Given the description of an element on the screen output the (x, y) to click on. 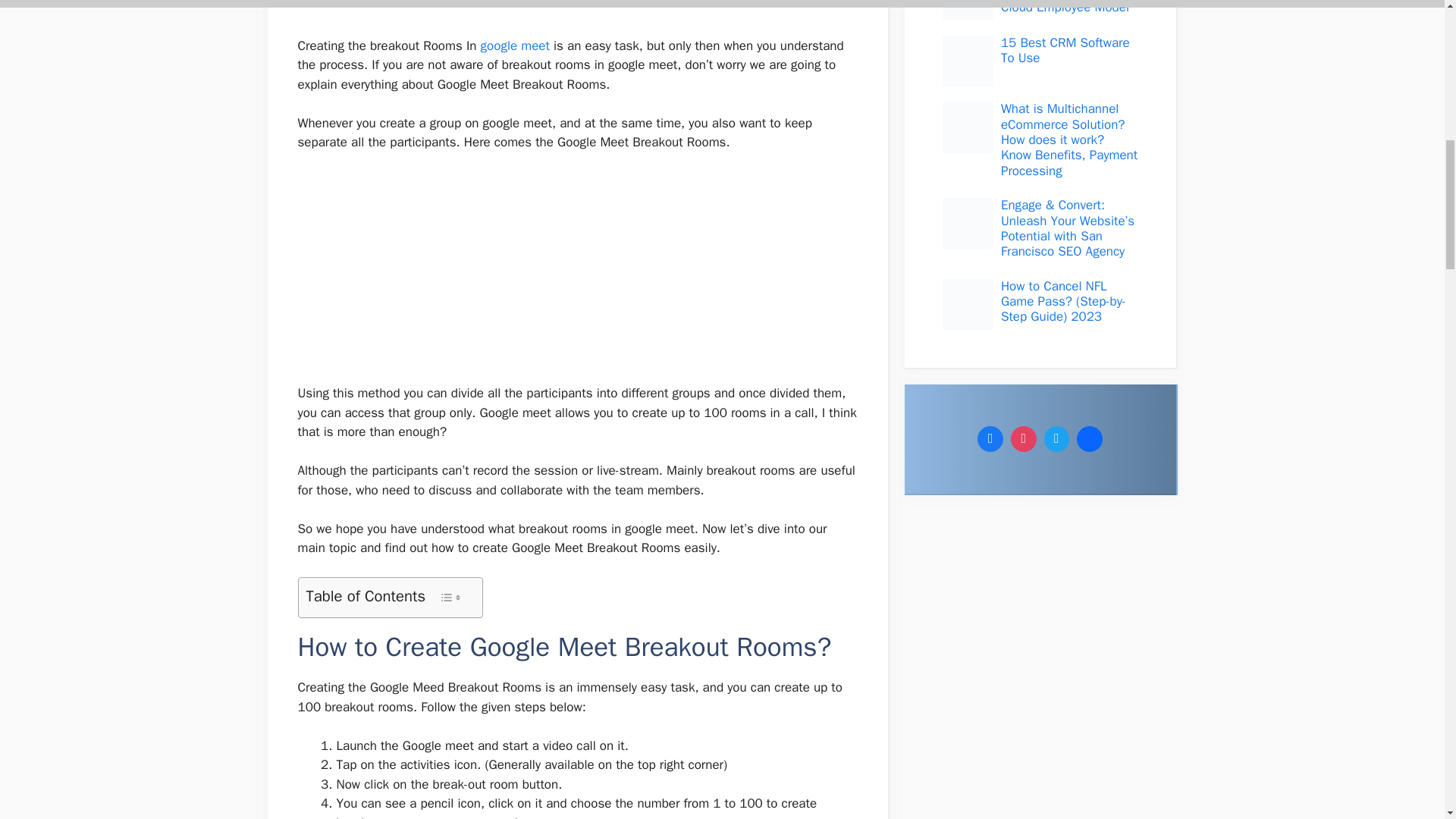
View all posts by Sankul Asati (422, 4)
google meet (515, 45)
Advertisement (576, 277)
Sankul Asati (422, 4)
